Given the description of an element on the screen output the (x, y) to click on. 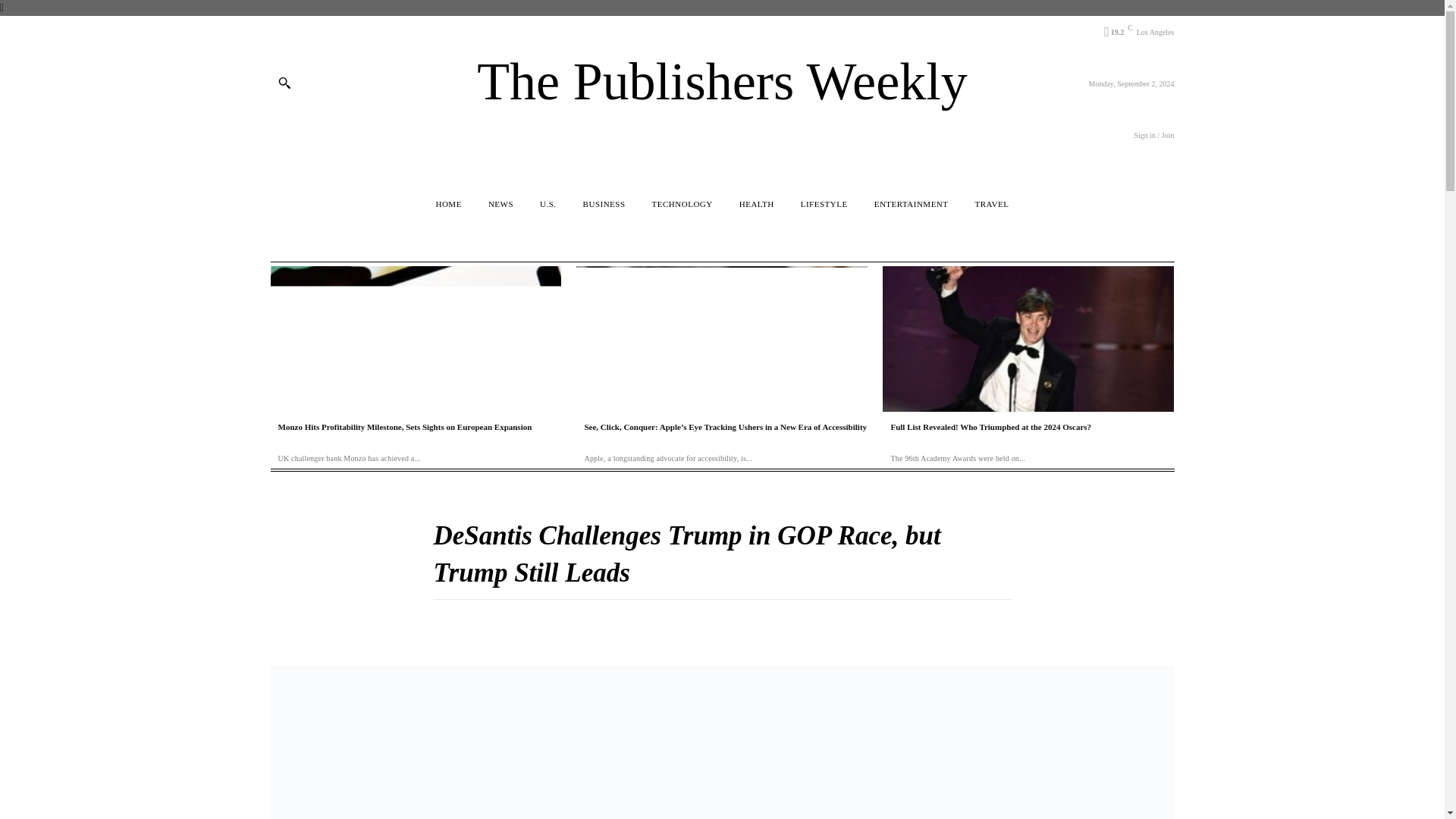
TRAVEL (992, 203)
NEWS (500, 203)
Full List Revealed! Who Triumphed at the 2024 Oscars? (1027, 338)
Full List Revealed! Who Triumphed at the 2024 Oscars? (989, 426)
ENTERTAINMENT (911, 203)
HOME (448, 203)
LIFESTYLE (824, 203)
